Given the description of an element on the screen output the (x, y) to click on. 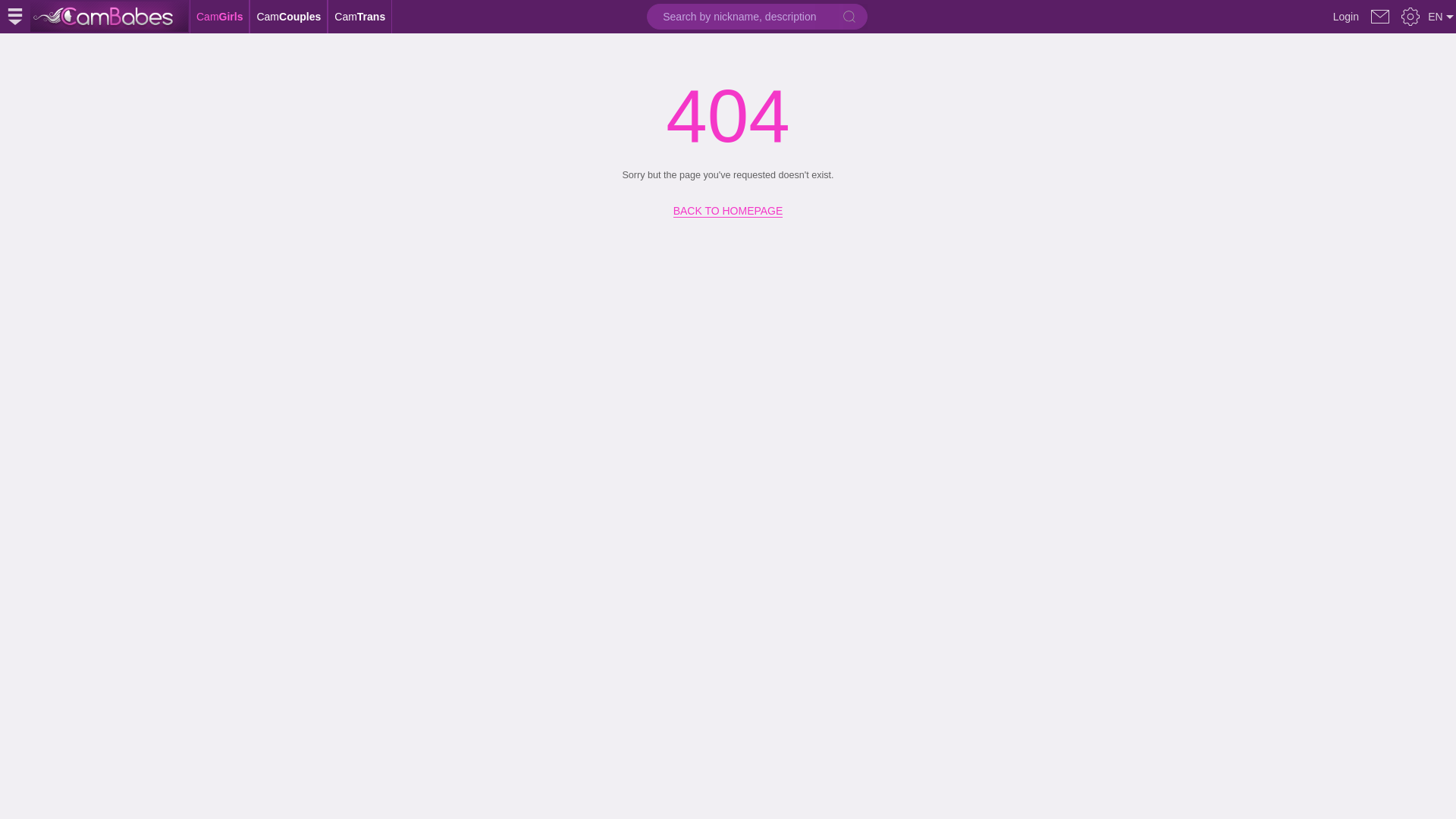
BACK TO HOMEPAGE Element type: text (727, 205)
See all girls Element type: hover (109, 16)
Cam
Couples Element type: text (288, 16)
Login Element type: text (1345, 16)
Cam
Trans Element type: text (359, 16)
Cam
Girls Element type: text (219, 16)
